Given the description of an element on the screen output the (x, y) to click on. 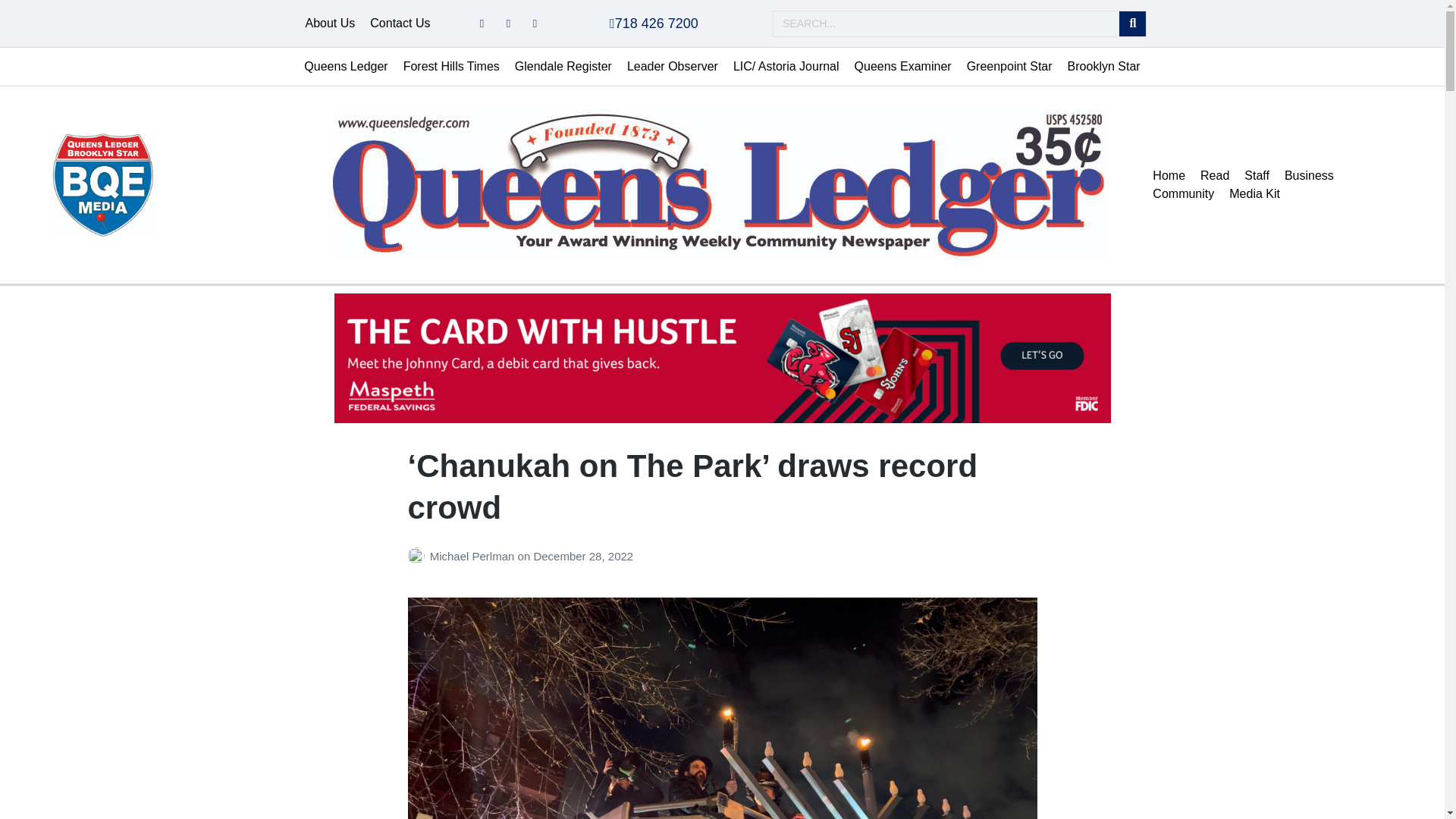
Queens Examiner (903, 66)
Greenpoint Star (1009, 66)
About Us (329, 23)
Posts by Michael Perlman (418, 555)
Contact Us (400, 23)
Queens Ledger (345, 66)
Read (1214, 176)
Glendale Register (563, 66)
Leader Observer (672, 66)
Home (1168, 176)
